Given the description of an element on the screen output the (x, y) to click on. 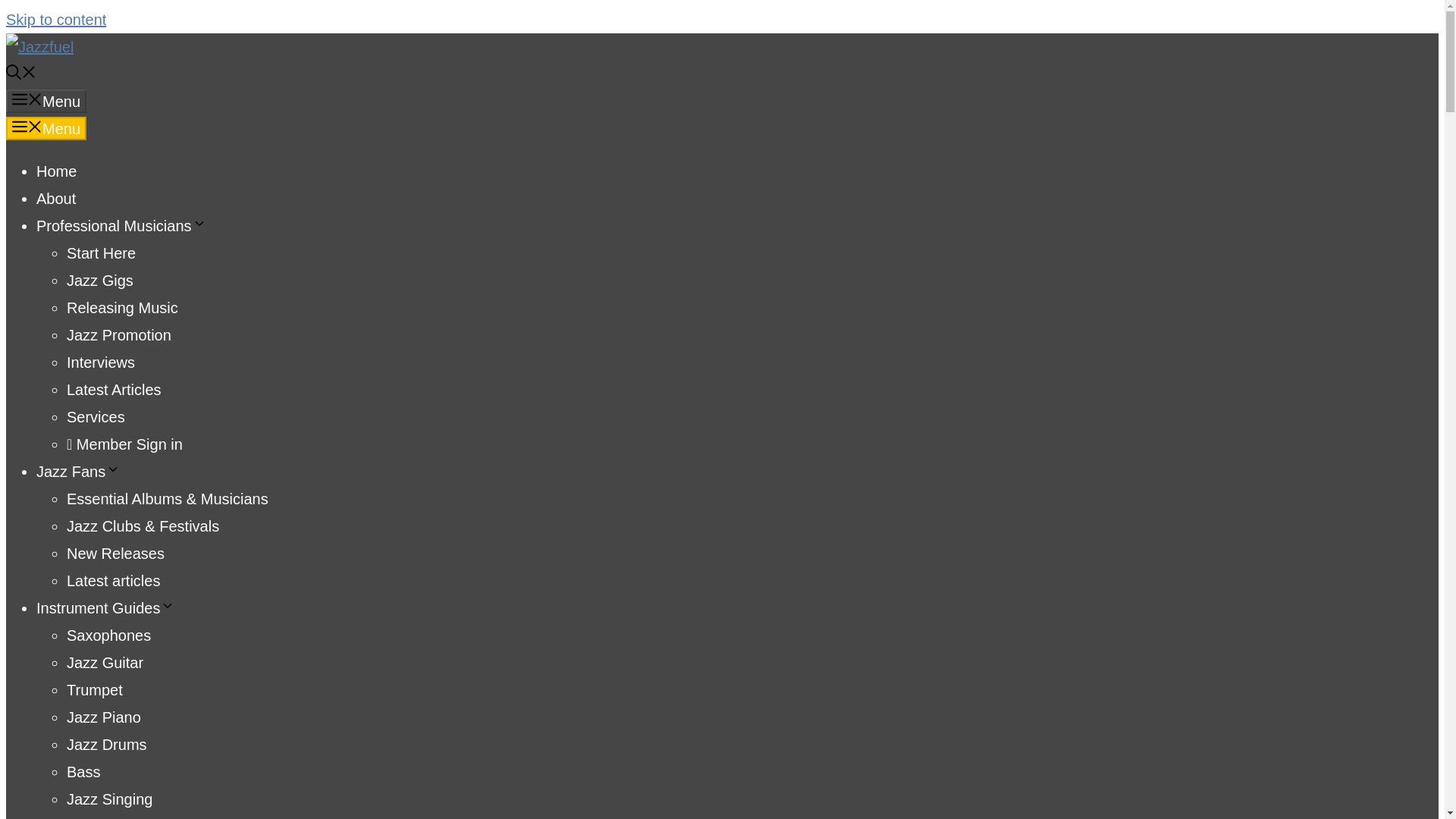
Skip to content (55, 19)
Interviews (100, 362)
Start Here (100, 252)
Home (56, 170)
About (55, 198)
New Releases (115, 553)
Jazz Gigs (99, 280)
Menu (45, 101)
Trumpet (94, 689)
Jazz Fans (78, 471)
